Given the description of an element on the screen output the (x, y) to click on. 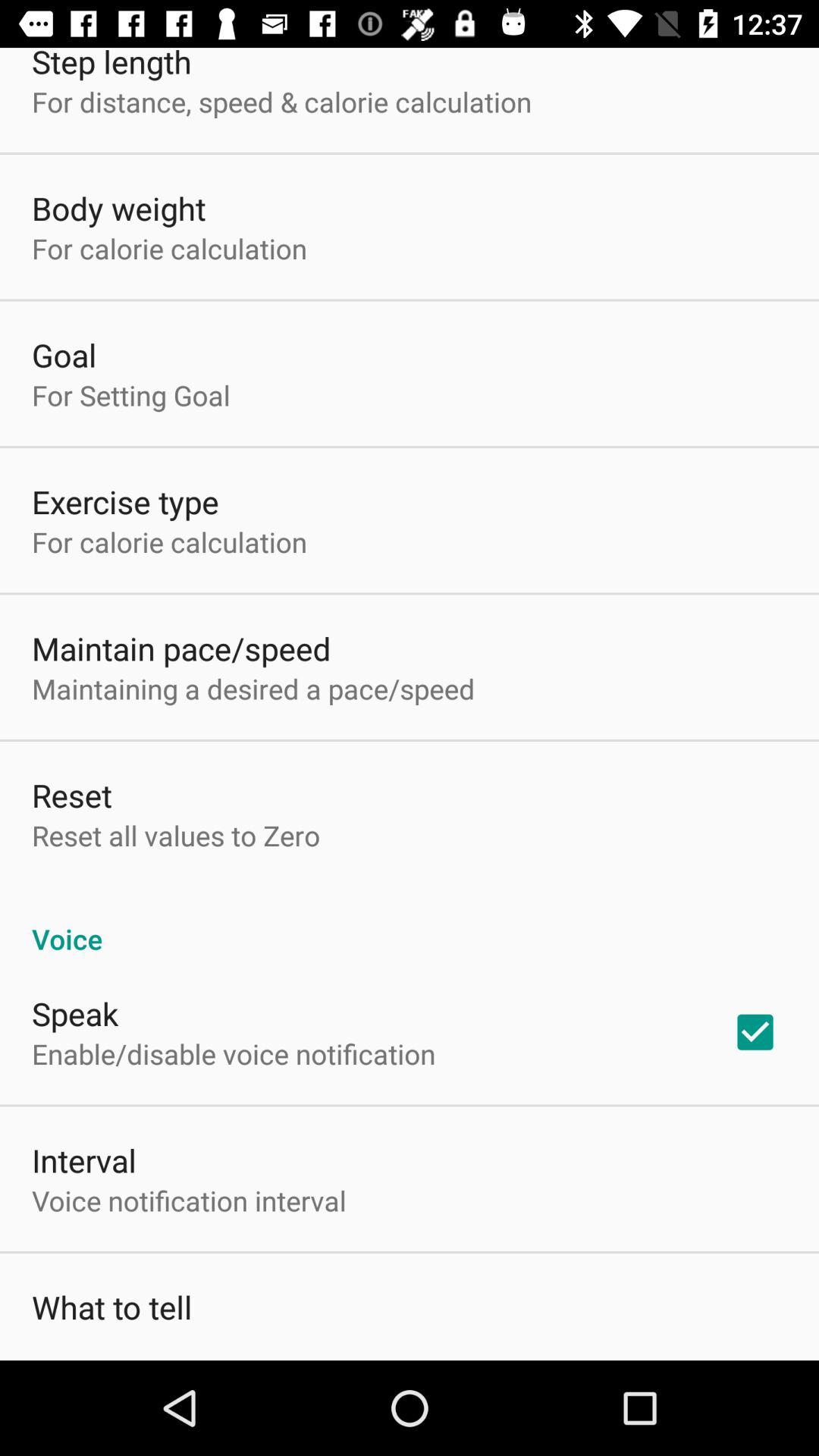
click body weight icon (118, 207)
